Given the description of an element on the screen output the (x, y) to click on. 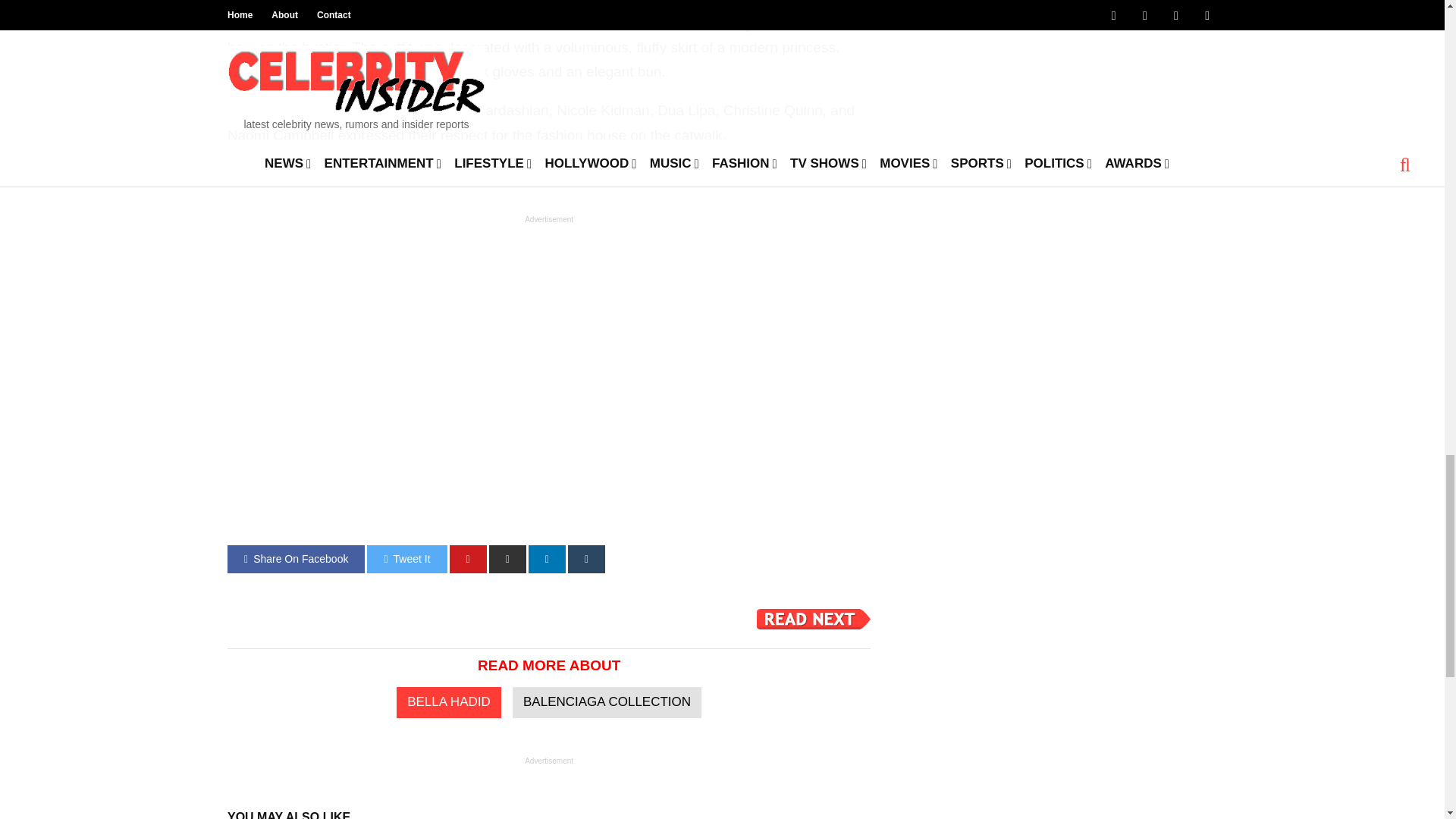
Share On Linkedin (547, 559)
Share On Facebook (296, 559)
Share On Reddit (507, 559)
Share On Twitter (406, 559)
Share On Pinterest (467, 559)
Share On Tumblr (586, 559)
